Given the description of an element on the screen output the (x, y) to click on. 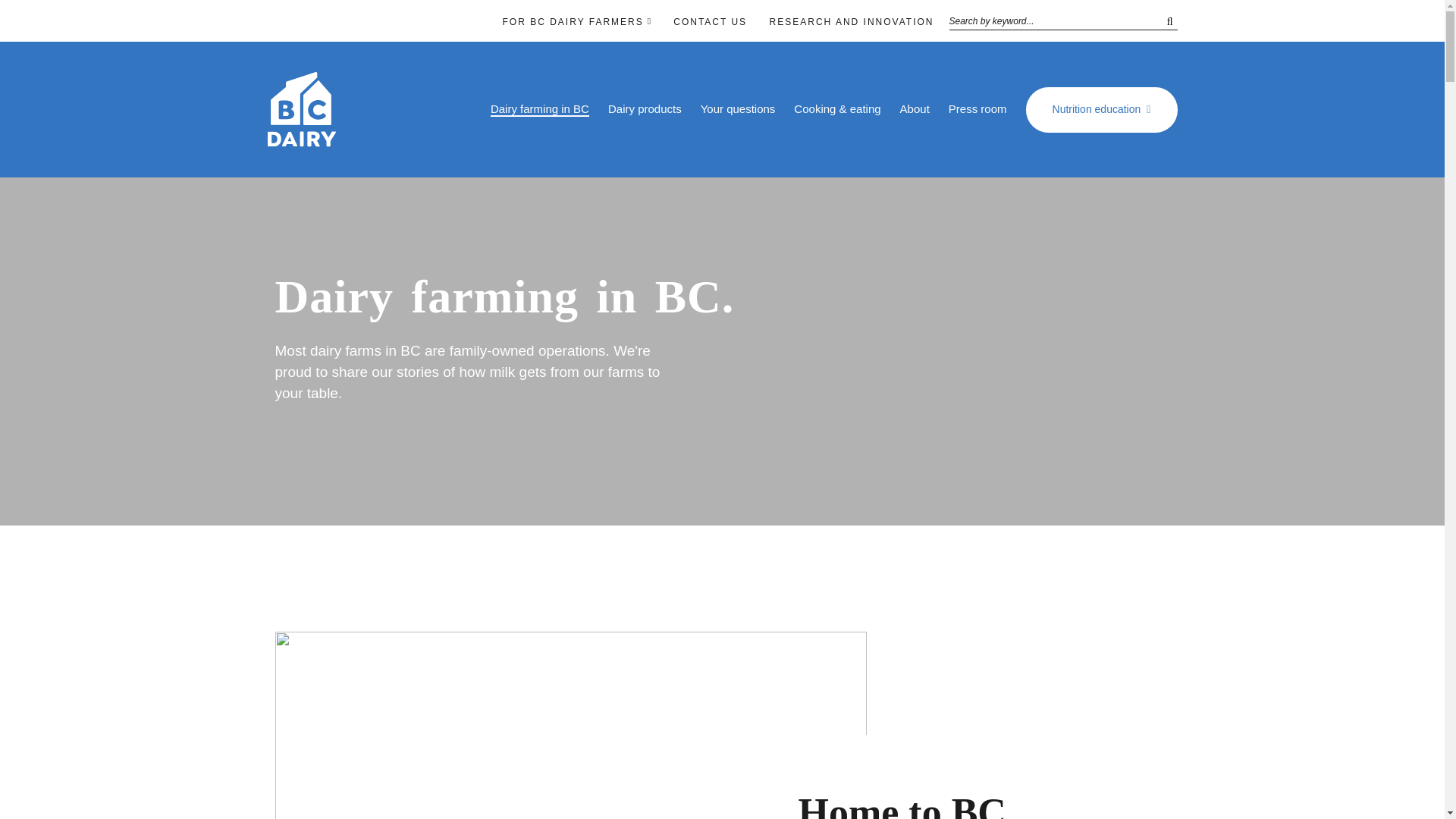
CONTACT US Element type: text (709, 21)
BC Dairy Element type: hover (300, 139)
About Element type: text (914, 109)
Press room Element type: text (977, 109)
Your questions Element type: text (737, 109)
Dairy farming in BC Element type: text (539, 109)
Cooking & eating Element type: text (836, 109)
Nutrition education Element type: text (1100, 108)
Dairy products Element type: text (644, 109)
FOR BC DAIRY FARMERS Element type: text (572, 21)
RESEARCH AND INNOVATION Element type: text (851, 21)
